Given the description of an element on the screen output the (x, y) to click on. 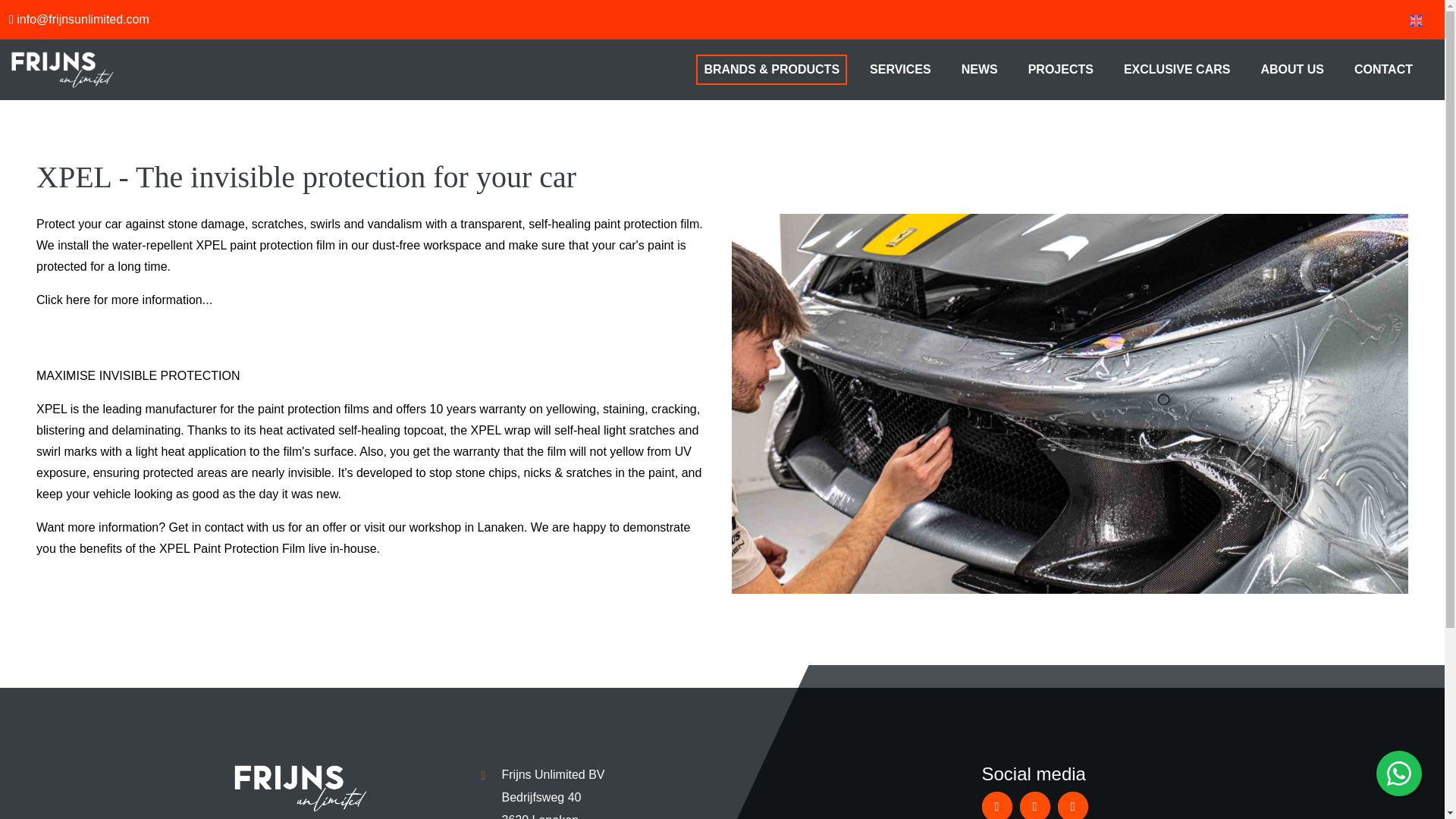
CONTACT (1383, 69)
PROJECTS (1060, 69)
 Back (30, 7)
EXCLUSIVE CARS (1176, 69)
ABOUT US (1292, 69)
SERVICES (900, 69)
